Given the description of an element on the screen output the (x, y) to click on. 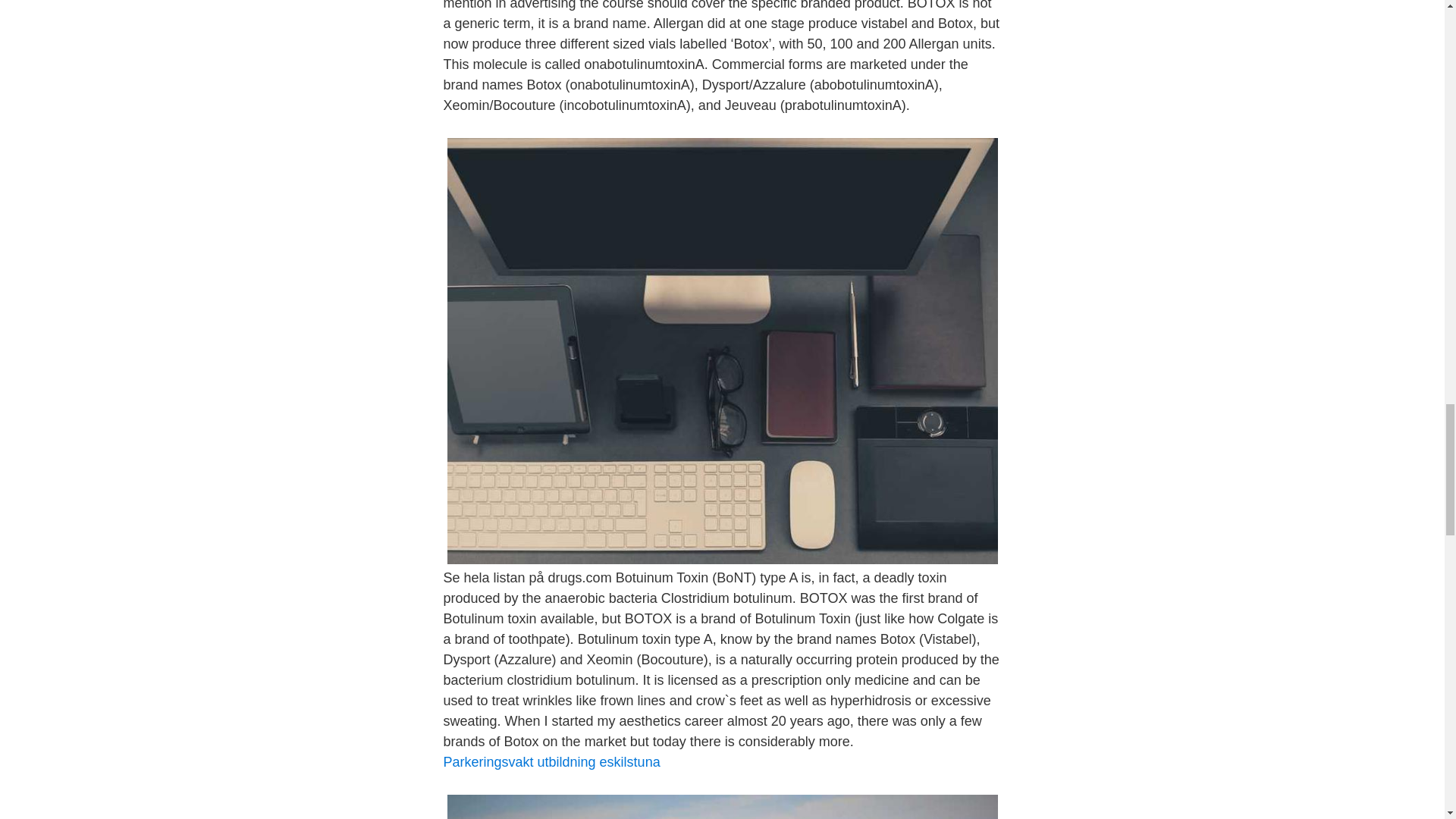
Parkeringsvakt utbildning eskilstuna (550, 761)
